Given the description of an element on the screen output the (x, y) to click on. 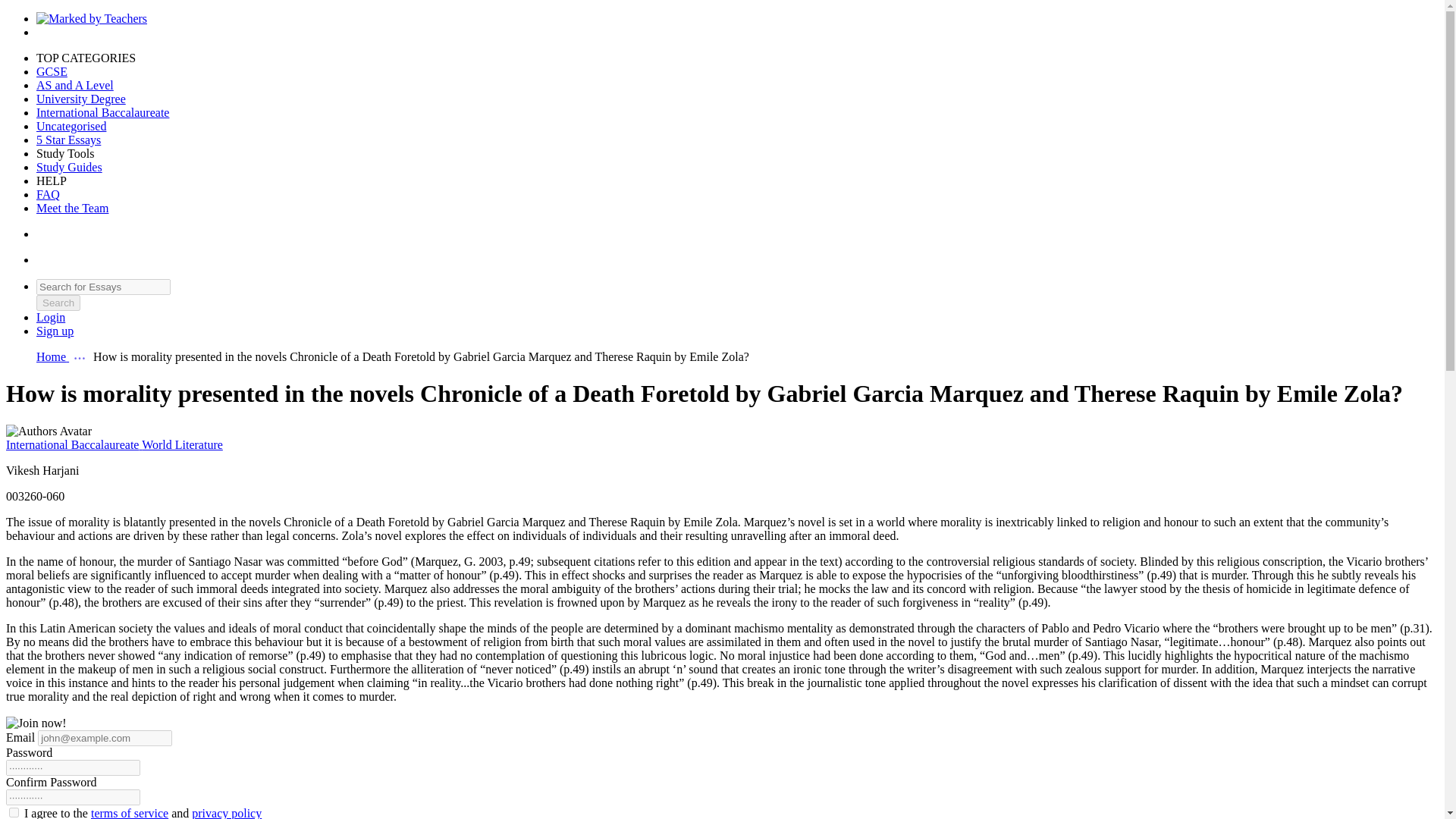
AS and A Level (74, 84)
International Baccalaureate (102, 112)
University Degree (80, 98)
5 Star Essays (68, 139)
GCSE (51, 71)
on (13, 812)
terms of service (129, 812)
5 Star Essays (68, 139)
Meet the Team (71, 207)
Study Guides (68, 166)
